Given the description of an element on the screen output the (x, y) to click on. 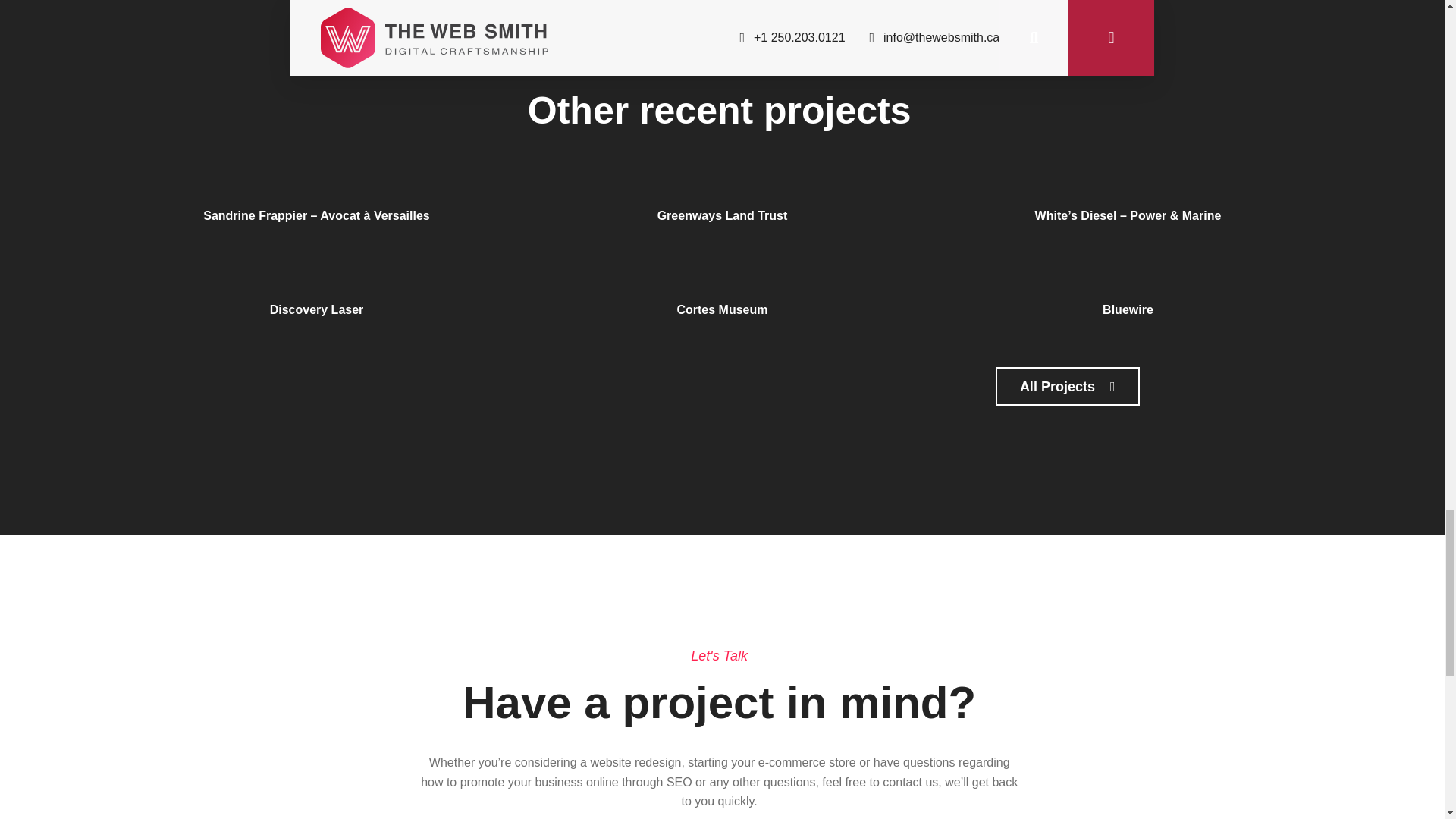
Cortes Museum (722, 309)
All Projects (1067, 385)
Greenways Land Trust (722, 215)
Bluewire (1127, 309)
Discovery Laser (316, 309)
